Given the description of an element on the screen output the (x, y) to click on. 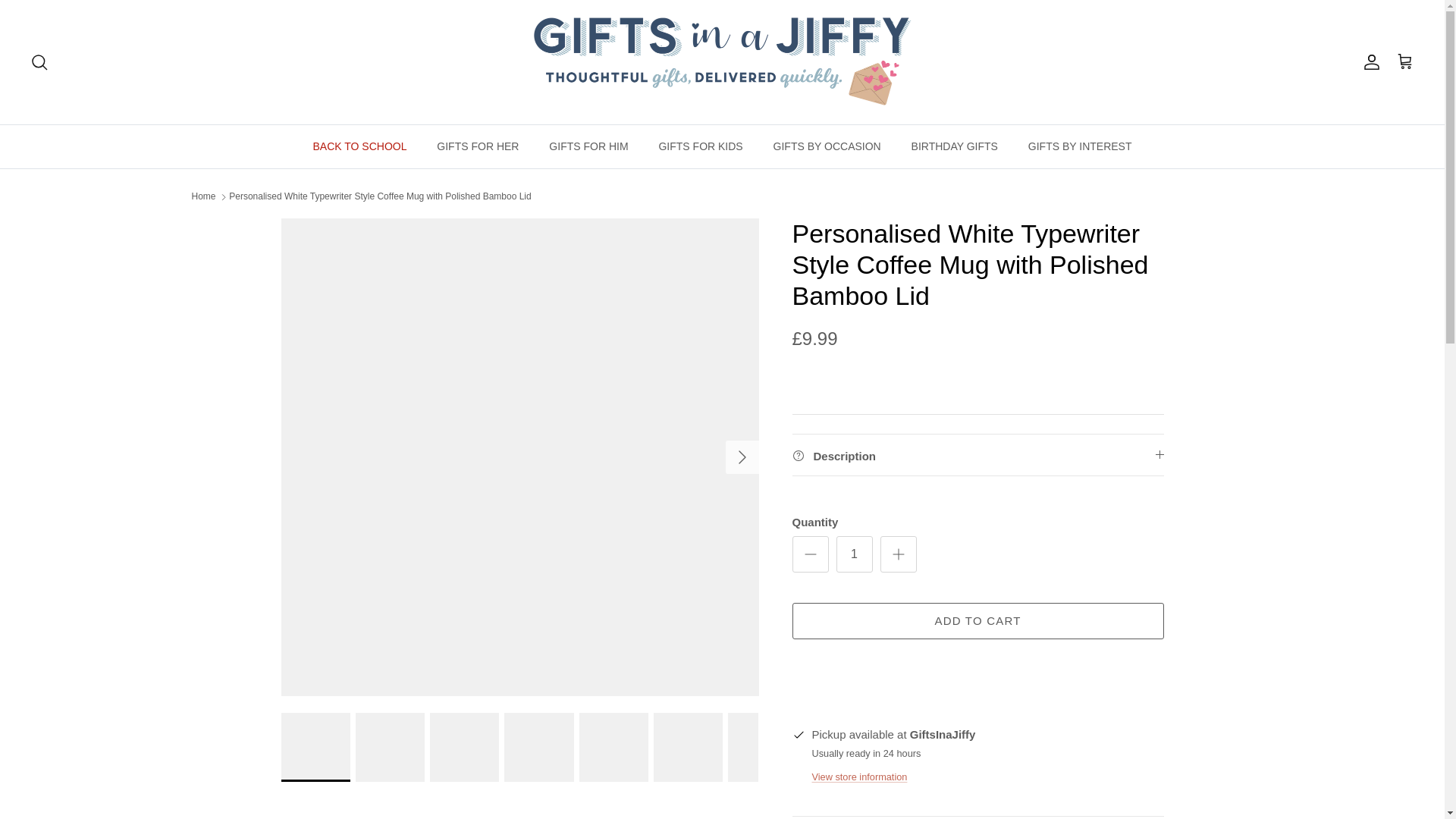
1 (853, 554)
Plus (897, 554)
GIFTS FOR KIDS (700, 145)
GiftsInAJiffy (721, 61)
GIFTS FOR HIM (588, 145)
RIGHT (741, 457)
Search (39, 62)
Minus (809, 554)
Account (1368, 62)
GIFTS FOR HER (477, 145)
BACK TO SCHOOL (359, 145)
GIFTS BY OCCASION (827, 145)
Cart (1404, 62)
